Given the description of an element on the screen output the (x, y) to click on. 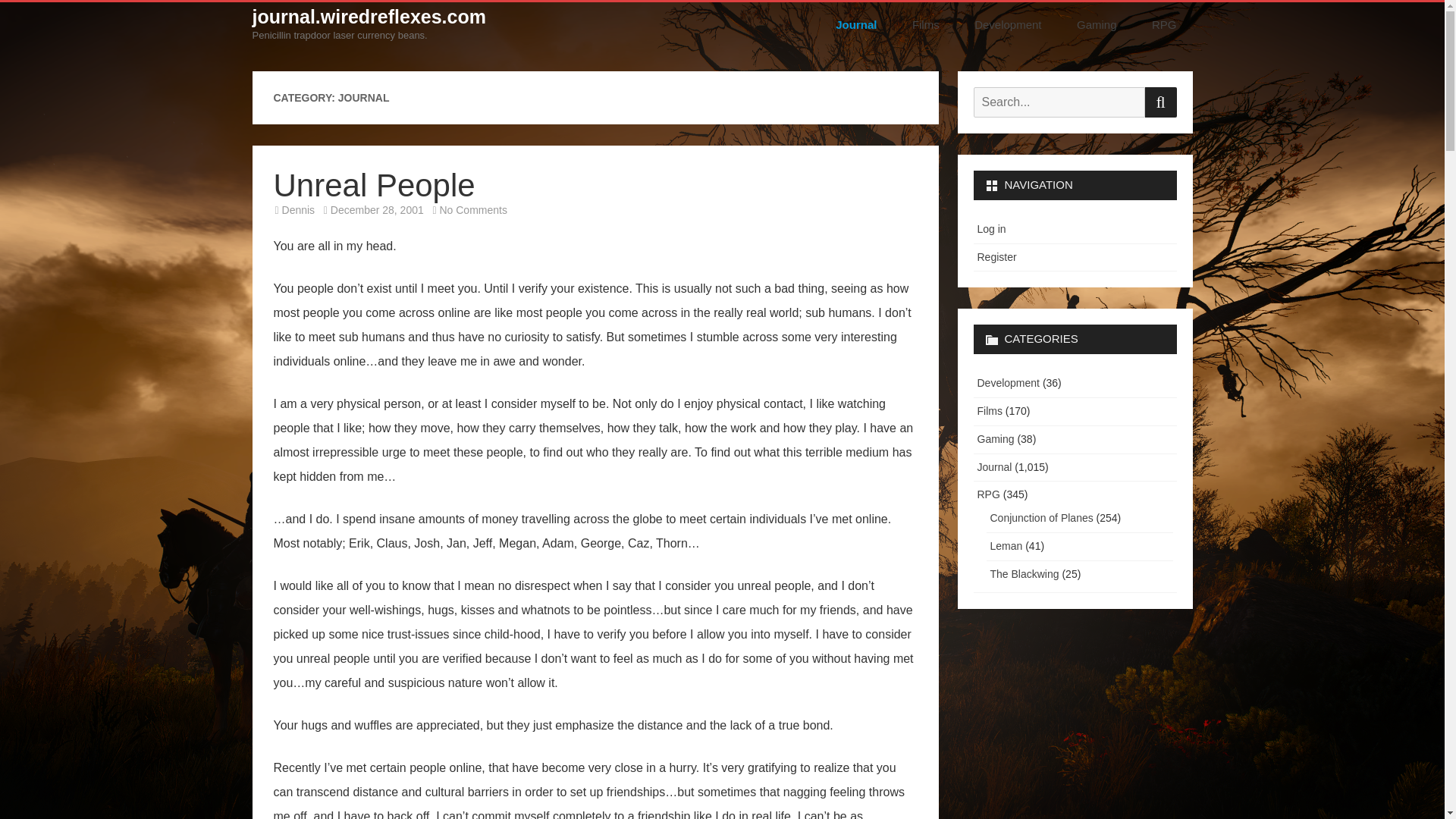
Journal (860, 24)
RPG (1163, 24)
journal.wiredreflexes.com (367, 16)
journal.wiredreflexes.com (367, 16)
Search for: (1059, 101)
Dennis (298, 209)
Unreal People (373, 185)
Films (925, 24)
Gaming (1096, 24)
